Given the description of an element on the screen output the (x, y) to click on. 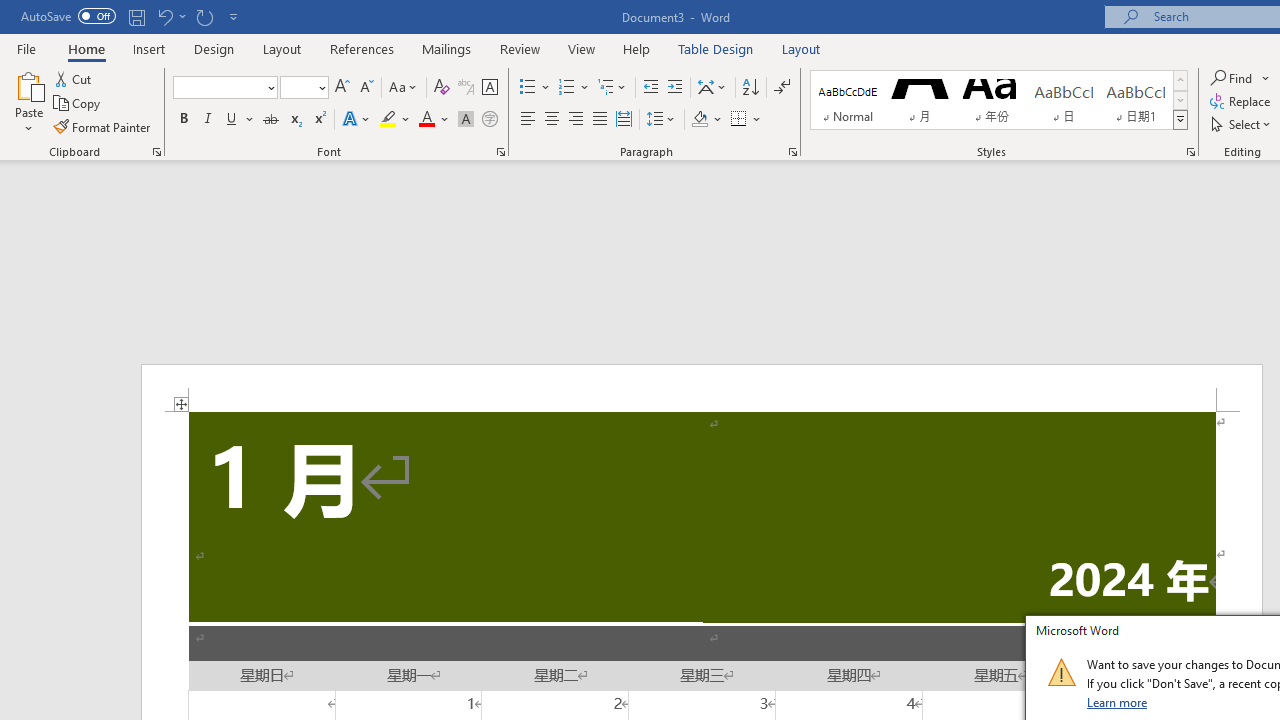
Show/Hide Editing Marks (781, 87)
Align Left (527, 119)
Learn more (1118, 702)
Format Painter (103, 126)
Subscript (294, 119)
Distributed (623, 119)
Align Right (575, 119)
Decrease Indent (650, 87)
Office Clipboard... (156, 151)
